Given the description of an element on the screen output the (x, y) to click on. 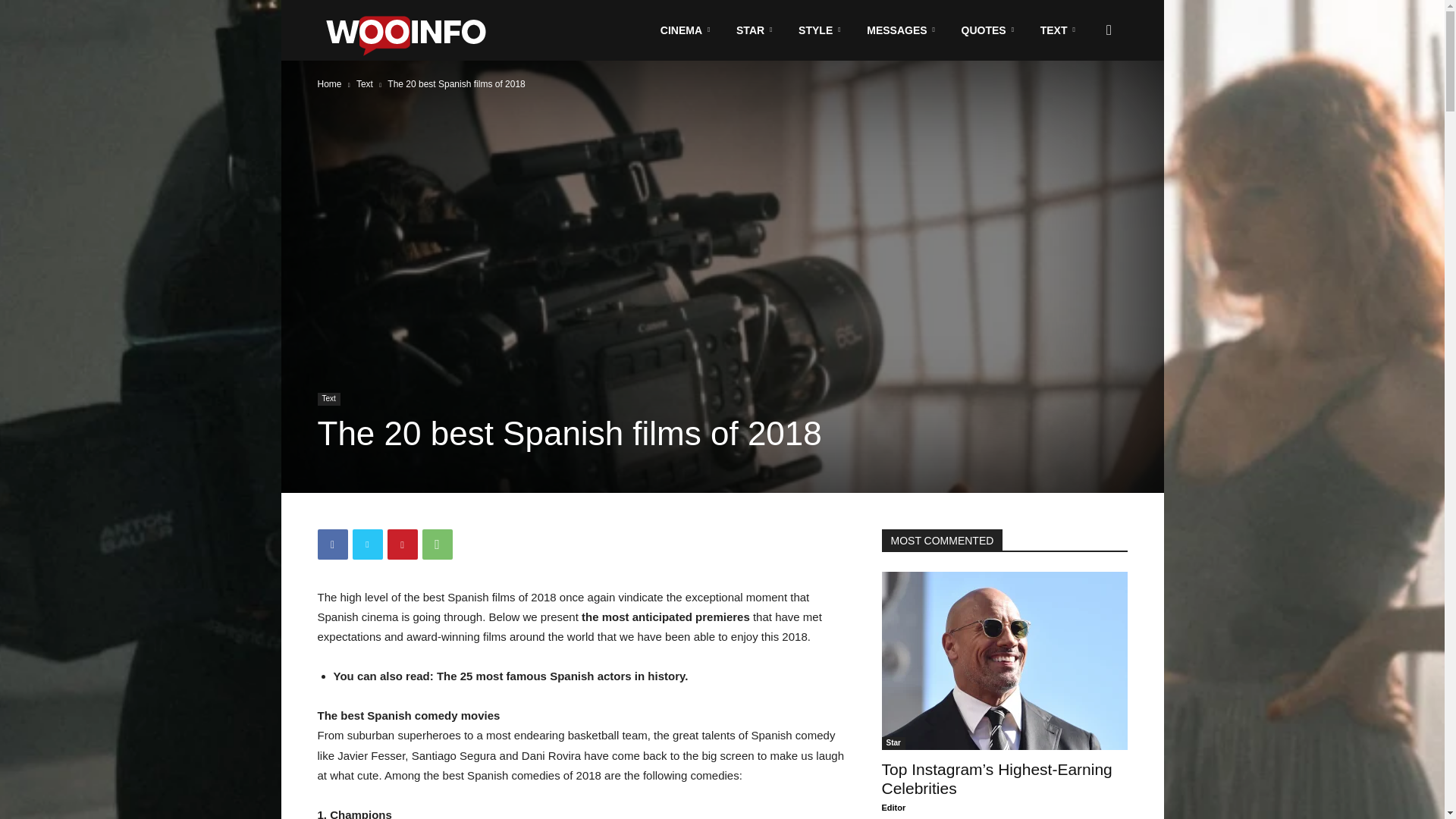
Search (1085, 102)
WooInfo (411, 30)
CINEMA (687, 30)
